Given the description of an element on the screen output the (x, y) to click on. 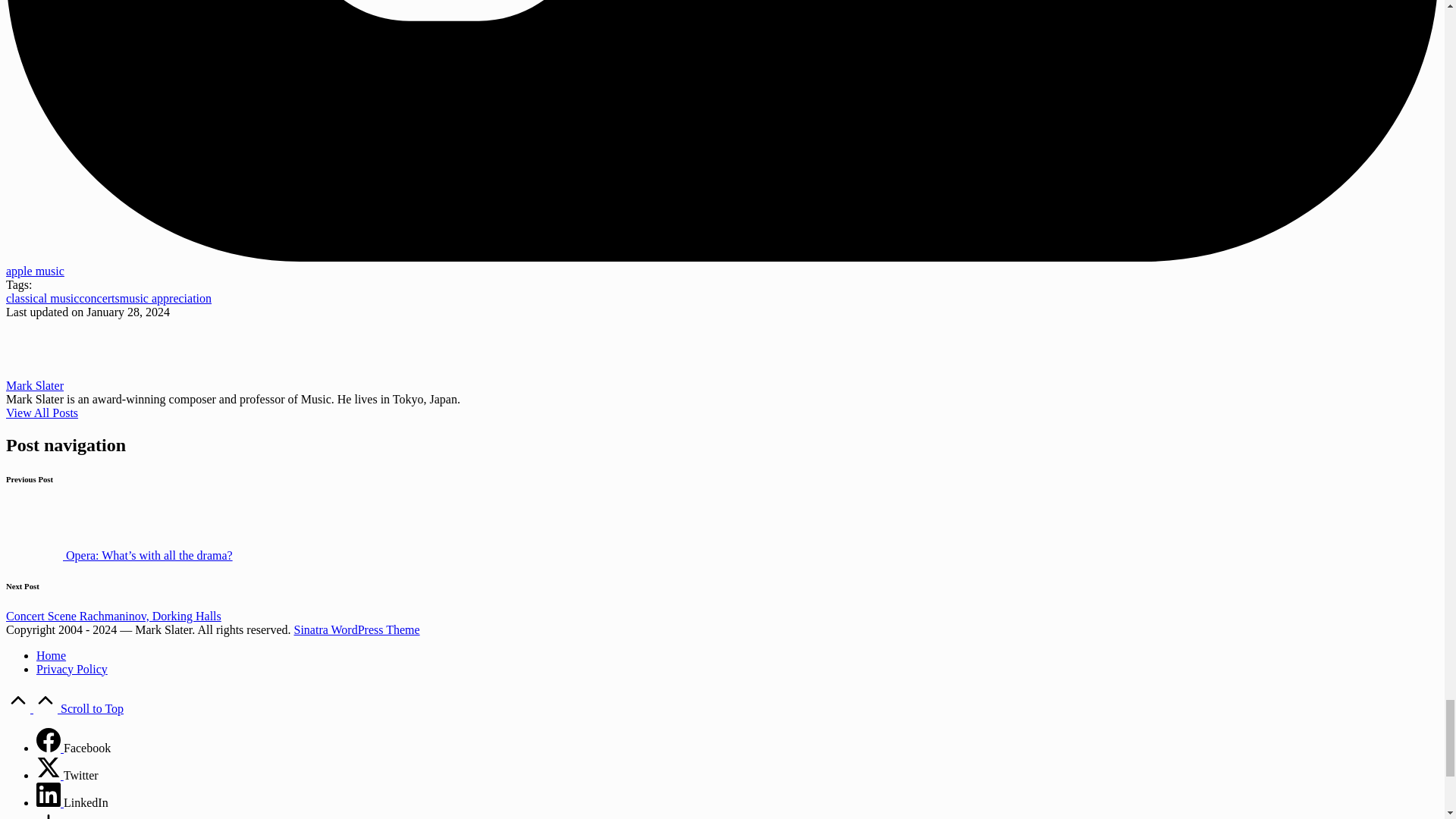
Scroll to Top (64, 707)
Scroll to Top (64, 707)
View All Posts (41, 412)
Sinatra WordPress Theme (357, 629)
classical music (41, 297)
concerts (98, 297)
Scroll to Top (64, 707)
Privacy Policy (71, 668)
music appreciation (165, 297)
Mark Slater (34, 385)
